Given the description of an element on the screen output the (x, y) to click on. 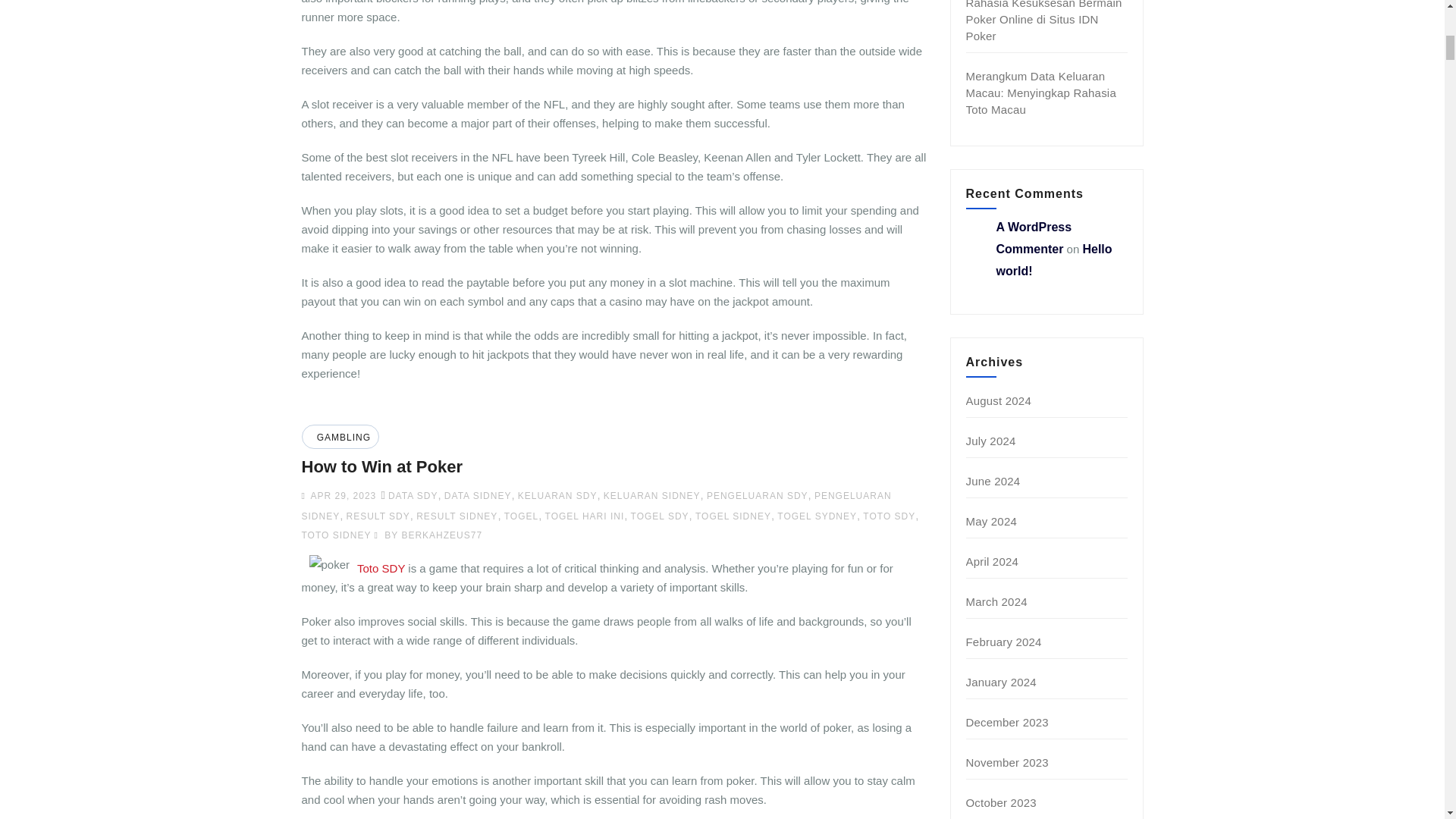
Toto SDY (380, 567)
How to Win at Poker (382, 466)
PENGELUARAN SIDNEY (596, 505)
TOGEL SYDNEY (817, 516)
BY BERKAHZEUS77 (428, 534)
TOGEL SDY (659, 516)
DATA SIDNEY (478, 495)
RESULT SIDNEY (456, 516)
TOGEL (520, 516)
Permalink to: How to Win at Poker (382, 466)
